Given the description of an element on the screen output the (x, y) to click on. 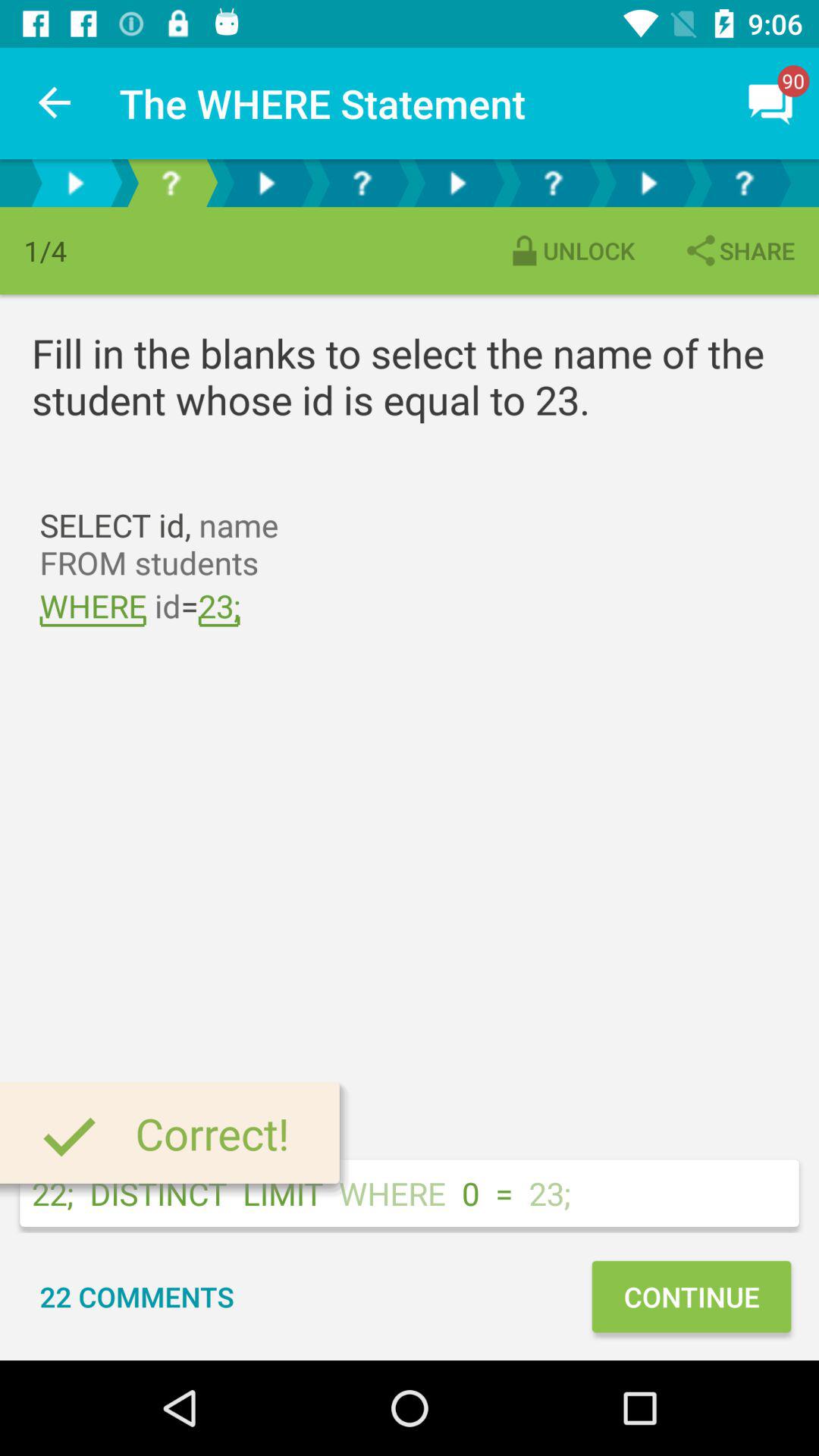
choose the continue item (691, 1296)
